Given the description of an element on the screen output the (x, y) to click on. 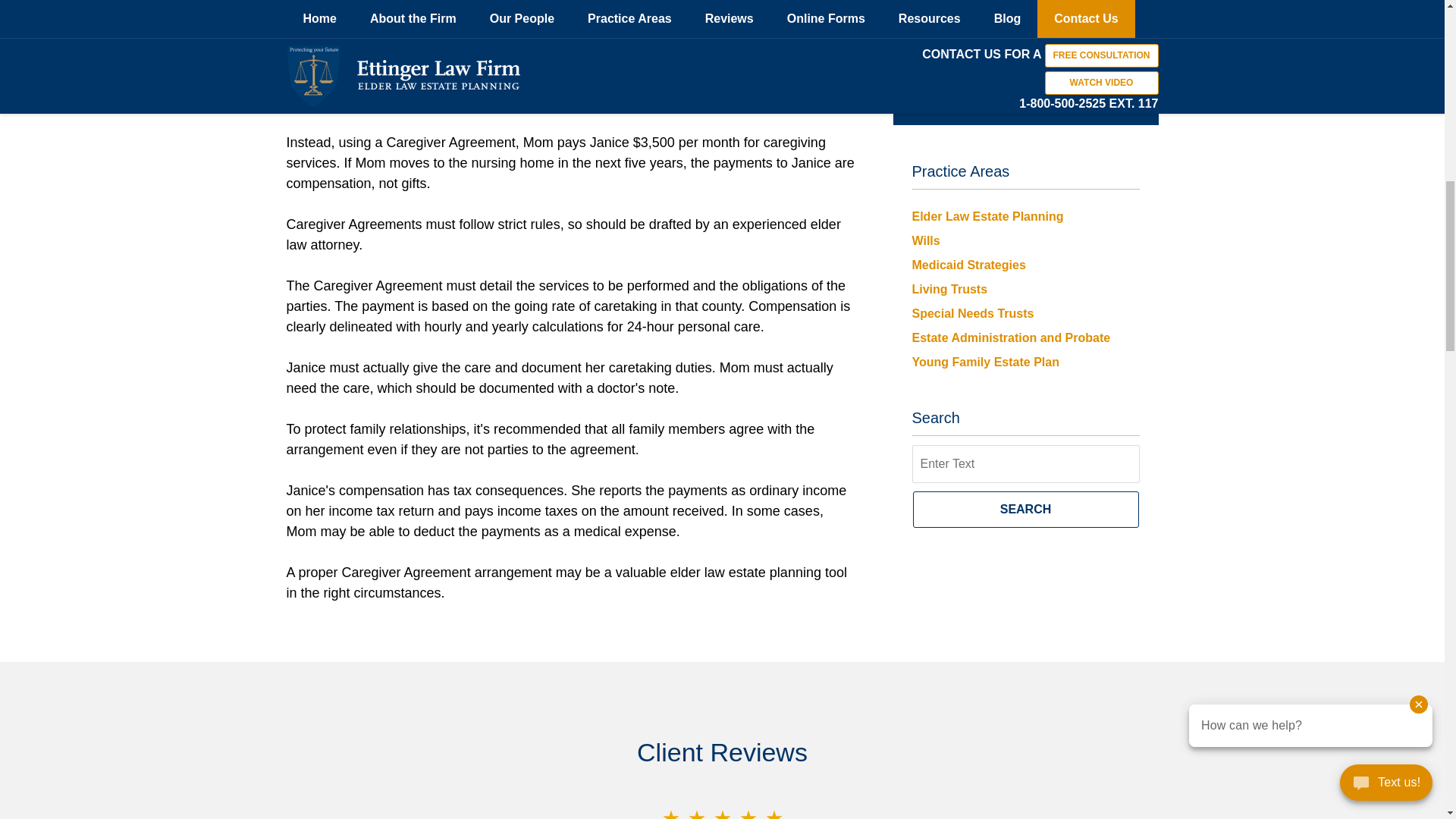
Search (1024, 464)
Message (1024, 29)
